Given the description of an element on the screen output the (x, y) to click on. 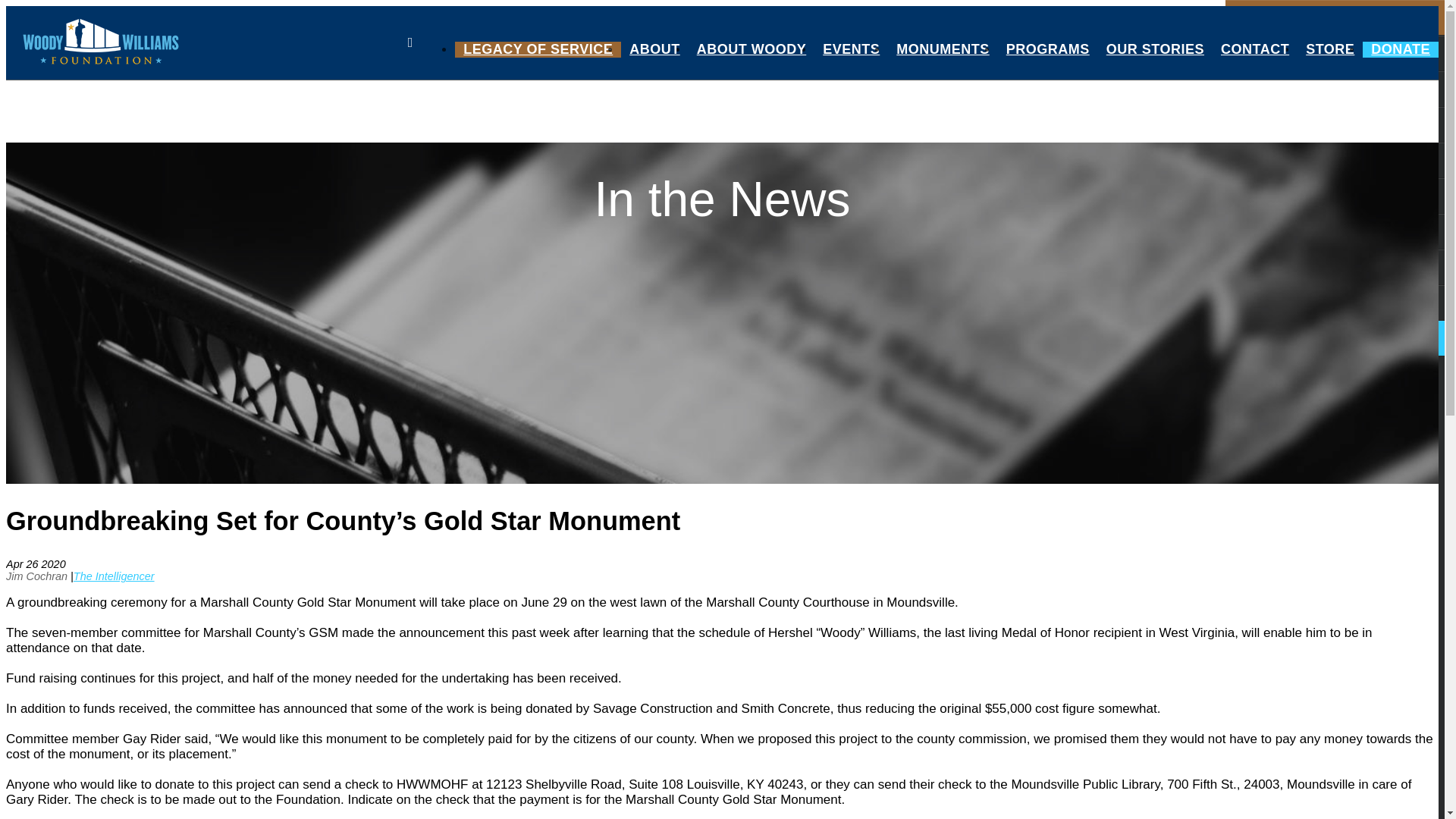
LEGACY OF SERVICE (537, 47)
ABOUT (654, 47)
STORE (1329, 47)
EVENTS (850, 47)
CONTACT (1254, 47)
ABOUT WOODY (751, 47)
OUR STORIES (1154, 47)
MONUMENTS (942, 47)
PROGRAMS (1047, 47)
Home (100, 42)
The Intelligencer (114, 576)
